Given the description of an element on the screen output the (x, y) to click on. 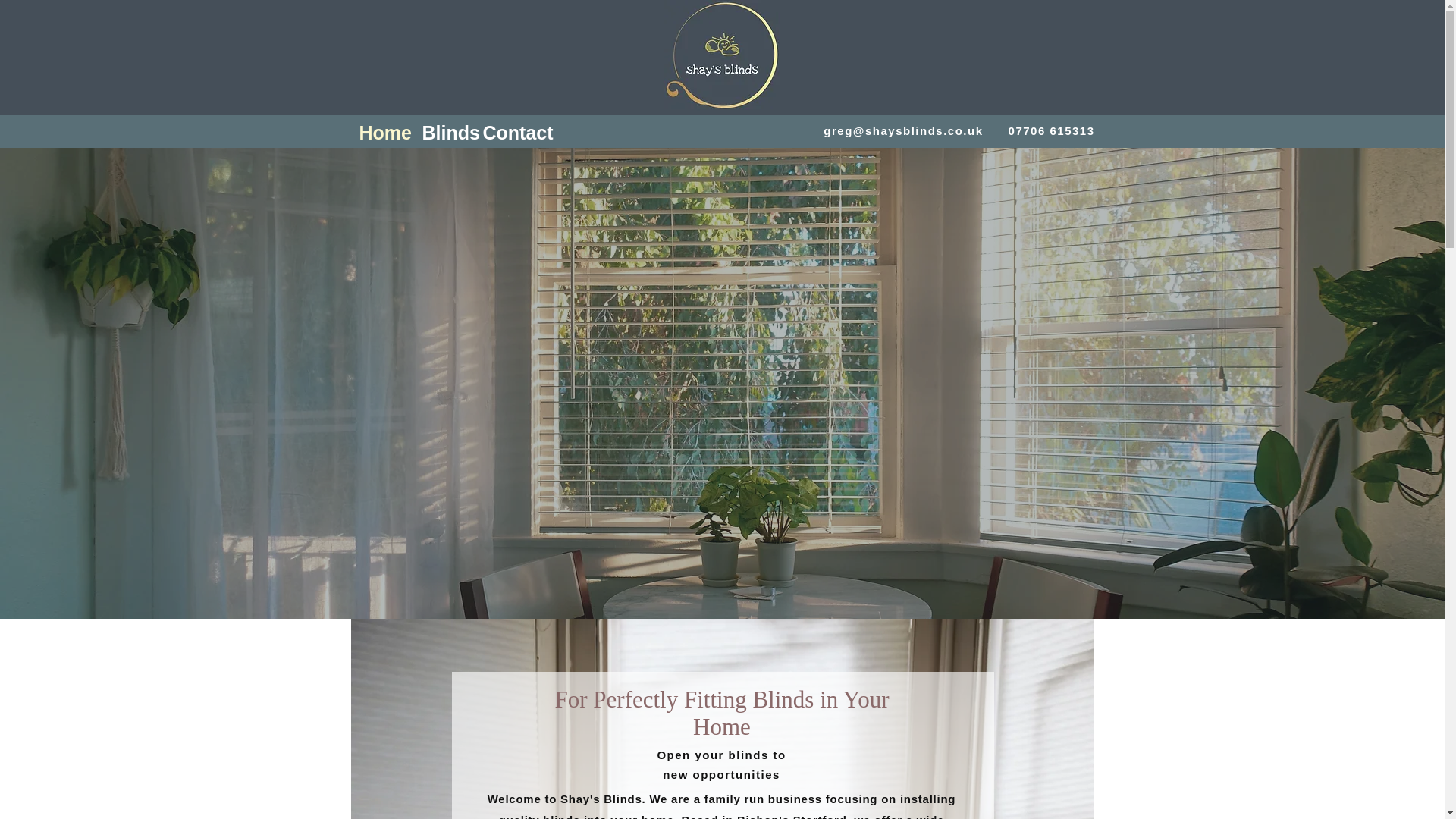
Contact (512, 130)
Blinds (443, 130)
07706 615313 (1051, 130)
Home (383, 130)
